Given the description of an element on the screen output the (x, y) to click on. 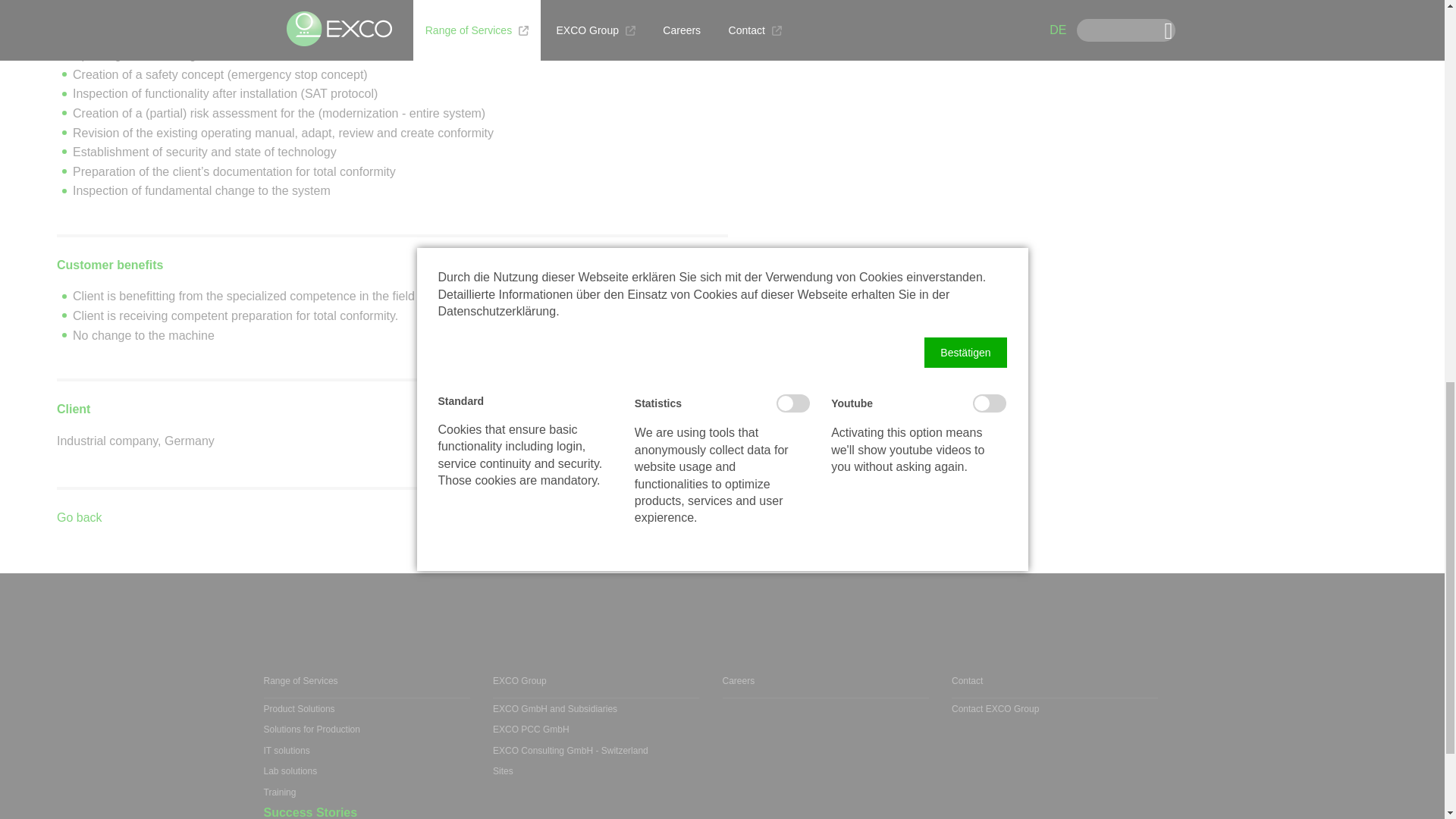
Go back (78, 517)
